Given the description of an element on the screen output the (x, y) to click on. 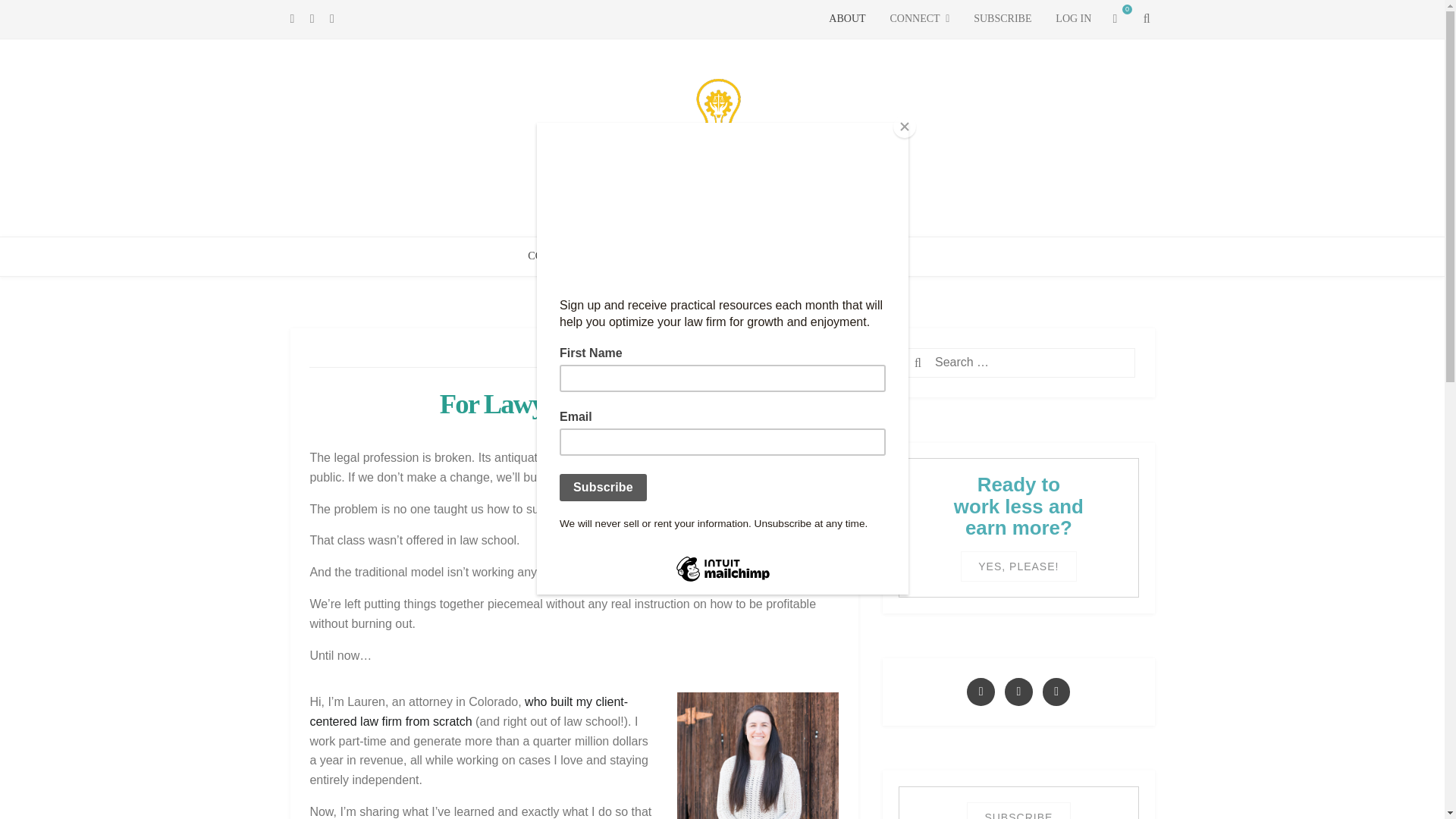
Search (944, 363)
Lauren-2- Web (757, 755)
Search (944, 363)
